Given the description of an element on the screen output the (x, y) to click on. 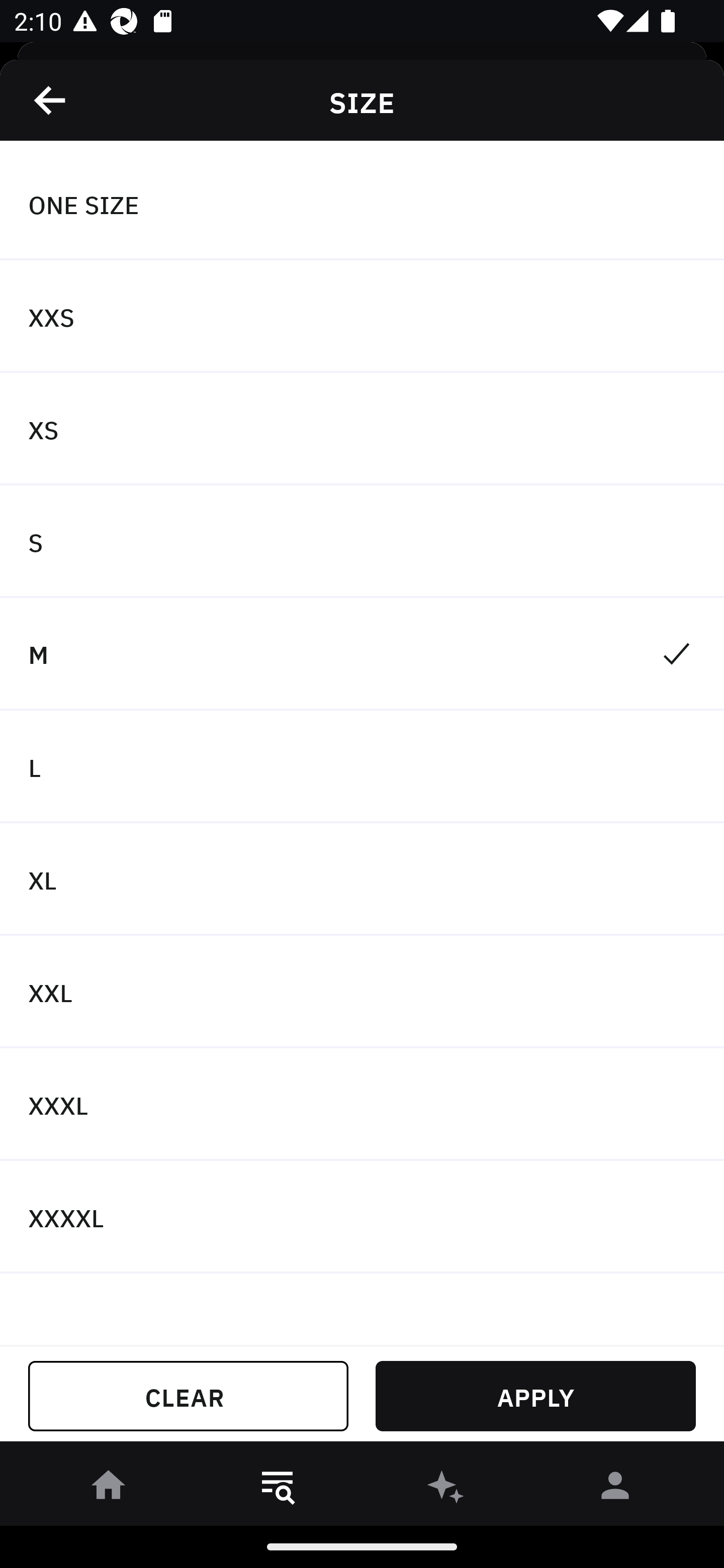
 (50, 100)
ONE SIZE (362, 203)
XXS (362, 316)
XS (362, 429)
S (362, 541)
M  (362, 653)
L (362, 766)
XL (362, 879)
XXL (362, 992)
XXXL (362, 1104)
XXXXL (362, 1216)
CLEAR  (188, 1396)
APPLY (535, 1396)
󰋜 (108, 1488)
󱎸 (277, 1488)
󰫢 (446, 1488)
󰀄 (615, 1488)
